Given the description of an element on the screen output the (x, y) to click on. 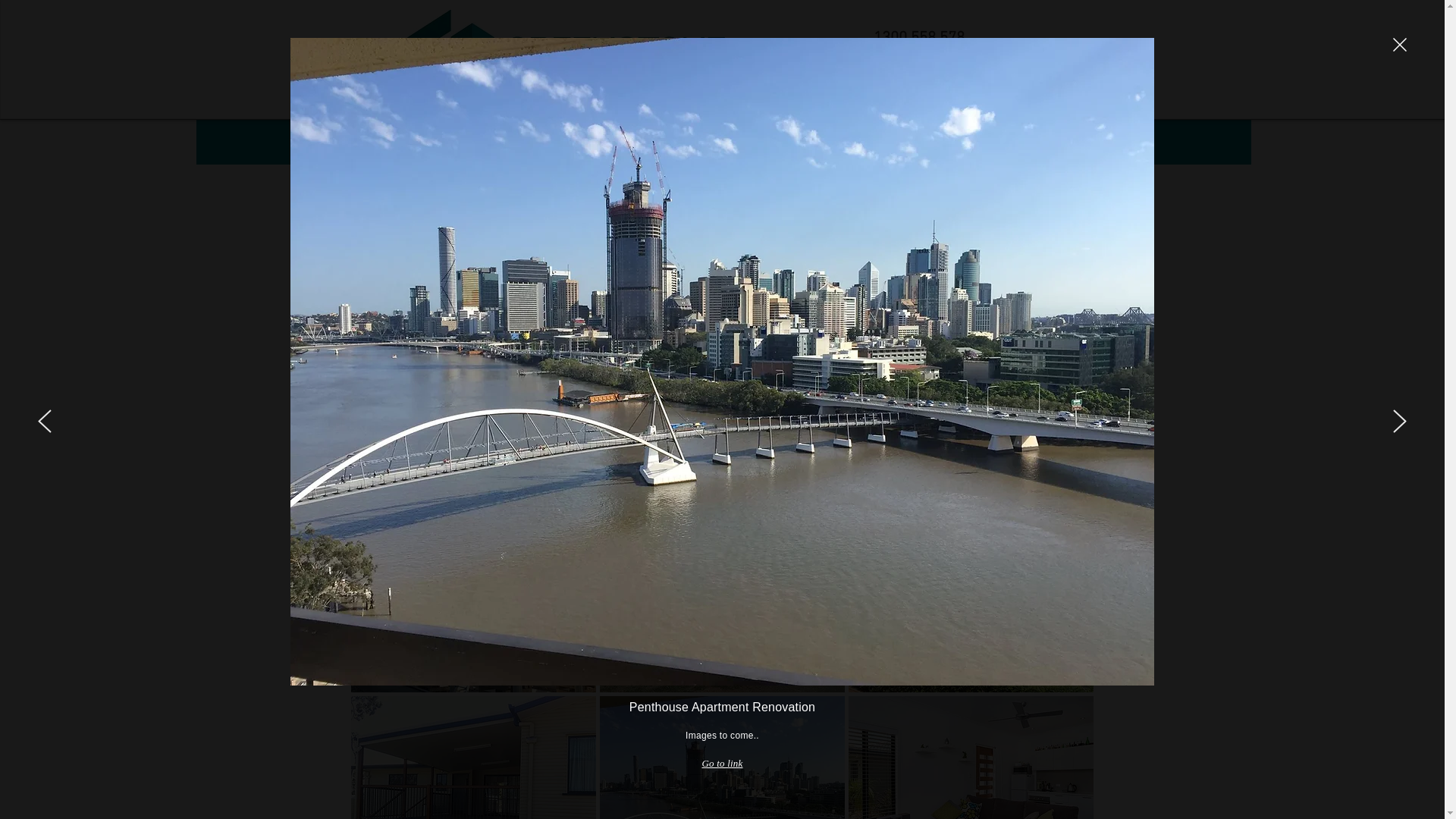
Testimonials Element type: text (828, 111)
Services Element type: text (721, 111)
Renovating Tips Element type: text (934, 111)
Home Element type: text (403, 111)
1300 558 578 Element type: text (918, 37)
Portfolio Element type: text (615, 111)
About Us Element type: text (509, 111)
Go to link Element type: text (722, 763)
Click to CALL NOW! Element type: text (926, 67)
